Given the description of an element on the screen output the (x, y) to click on. 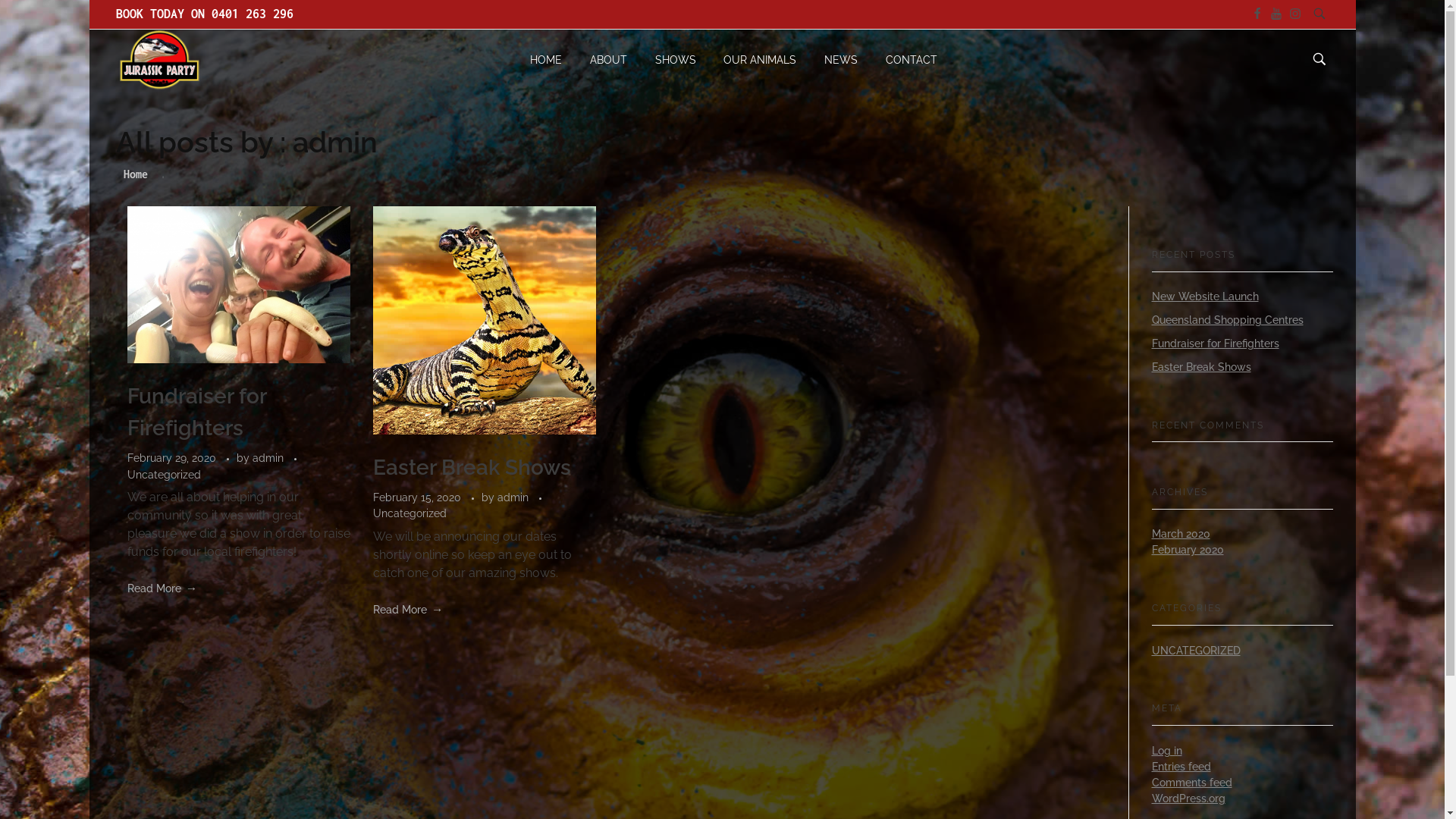
Fundraiser for Firefighters Element type: text (1214, 343)
Read More Element type: text (162, 587)
Easter Break Shows Element type: text (472, 467)
NEWS Element type: text (841, 59)
CONTACT Element type: text (904, 59)
UNCATEGORIZED Element type: text (1195, 650)
WordPress.org Element type: text (1187, 798)
SHOWS Element type: text (674, 59)
admin Element type: text (268, 457)
February 15, 2020 Element type: text (418, 497)
Home Element type: text (134, 173)
Uncategorized Element type: text (163, 475)
ABOUT Element type: text (608, 59)
HOME Element type: text (552, 59)
Log in Element type: text (1166, 750)
Entries feed Element type: text (1180, 766)
Queensland Shopping Centres Element type: text (1226, 319)
Read More Element type: text (408, 609)
Comments feed Element type: text (1191, 782)
Uncategorized Element type: text (409, 513)
New Website Launch Element type: text (1204, 296)
March 2020 Element type: text (1180, 533)
OUR ANIMALS Element type: text (759, 59)
February 2020 Element type: text (1187, 549)
Fundraiser for Firefighters Element type: text (196, 411)
Easter Break Shows Element type: text (1200, 366)
February 29, 2020 Element type: text (173, 457)
admin Element type: text (514, 497)
